Given the description of an element on the screen output the (x, y) to click on. 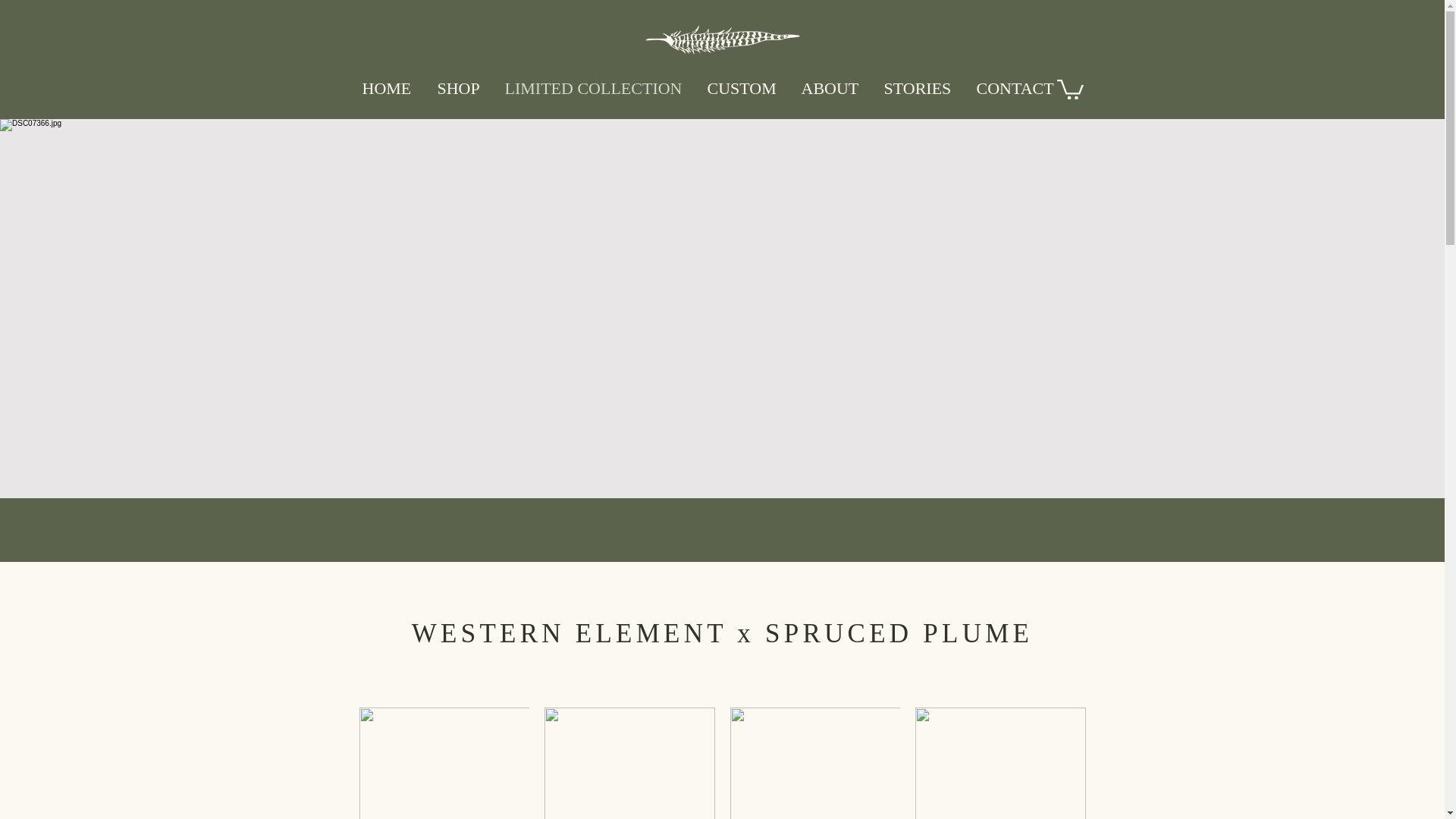
LIMITED COLLECTION (594, 88)
STORIES (917, 88)
CUSTOM (742, 88)
ABOUT (831, 88)
Spruced-Plume-Logos-OFF-WHITE-PLUME.png (722, 40)
HOME (387, 88)
SHOP (459, 88)
CONTACT (1015, 88)
